Given the description of an element on the screen output the (x, y) to click on. 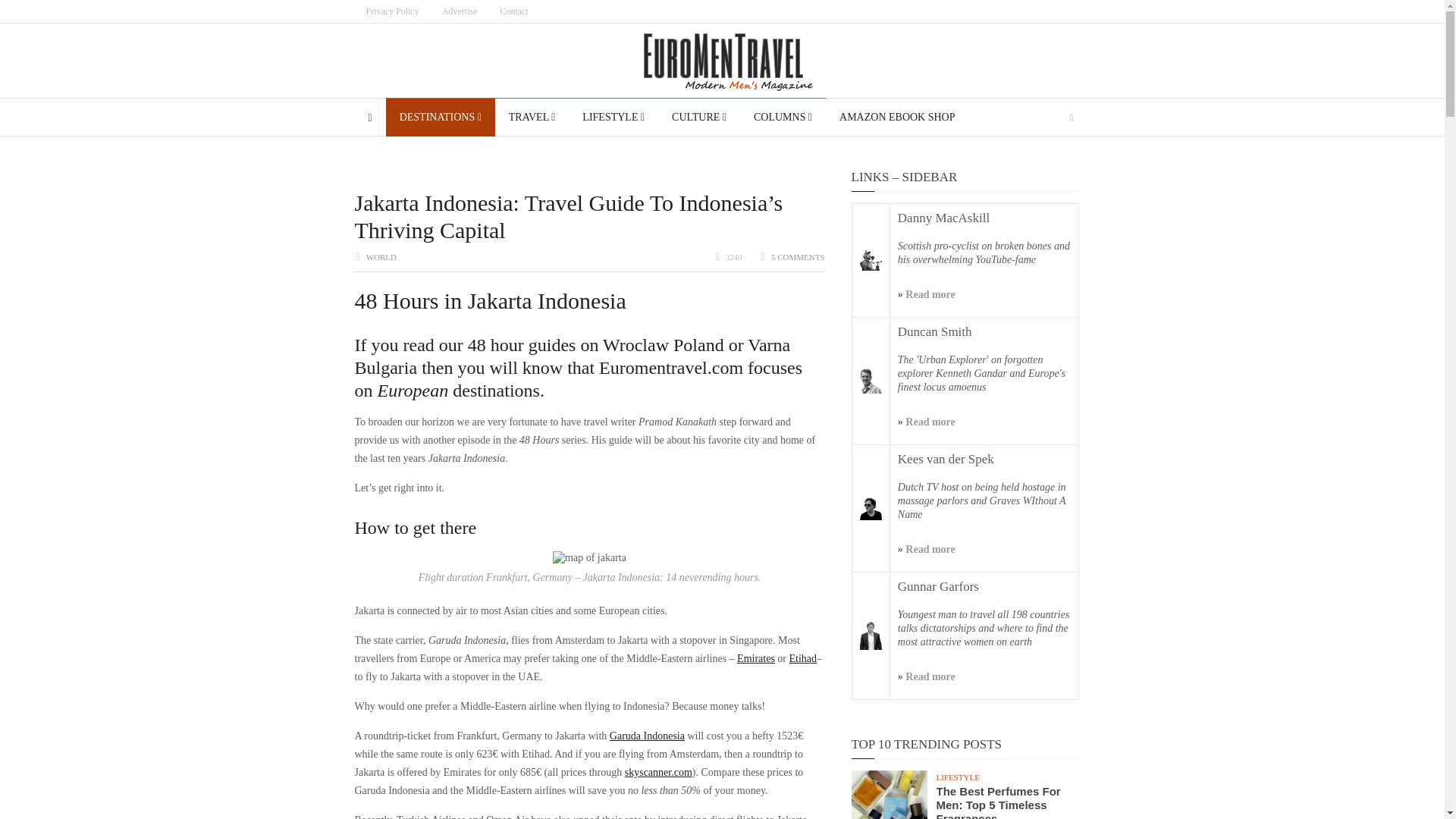
View all posts in World (381, 256)
